Given the description of an element on the screen output the (x, y) to click on. 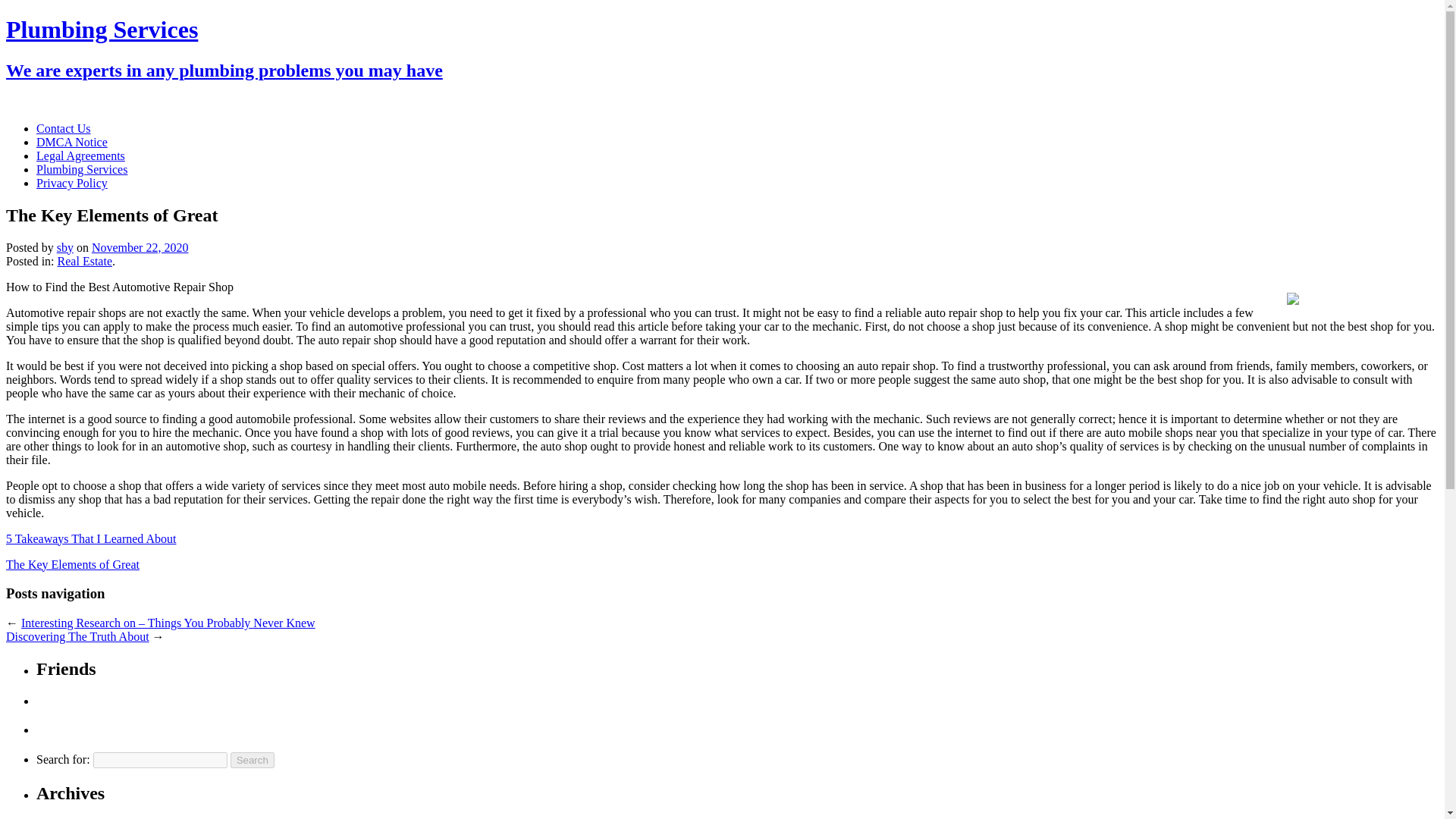
View all posts by sby (65, 246)
Plumbing Services (82, 169)
Privacy Policy (71, 182)
Discovering The Truth About (77, 635)
Real Estate (85, 260)
Legal Agreements (80, 155)
Contact Us (63, 128)
January 2017 (99, 818)
5 Takeaways That I Learned About (90, 538)
November 22, 2020 (140, 246)
The Key Elements of Great (72, 563)
Plumbing Services (101, 29)
Search (252, 760)
sby (65, 246)
We are experts in any plumbing problems you may have (223, 70)
